Given the description of an element on the screen output the (x, y) to click on. 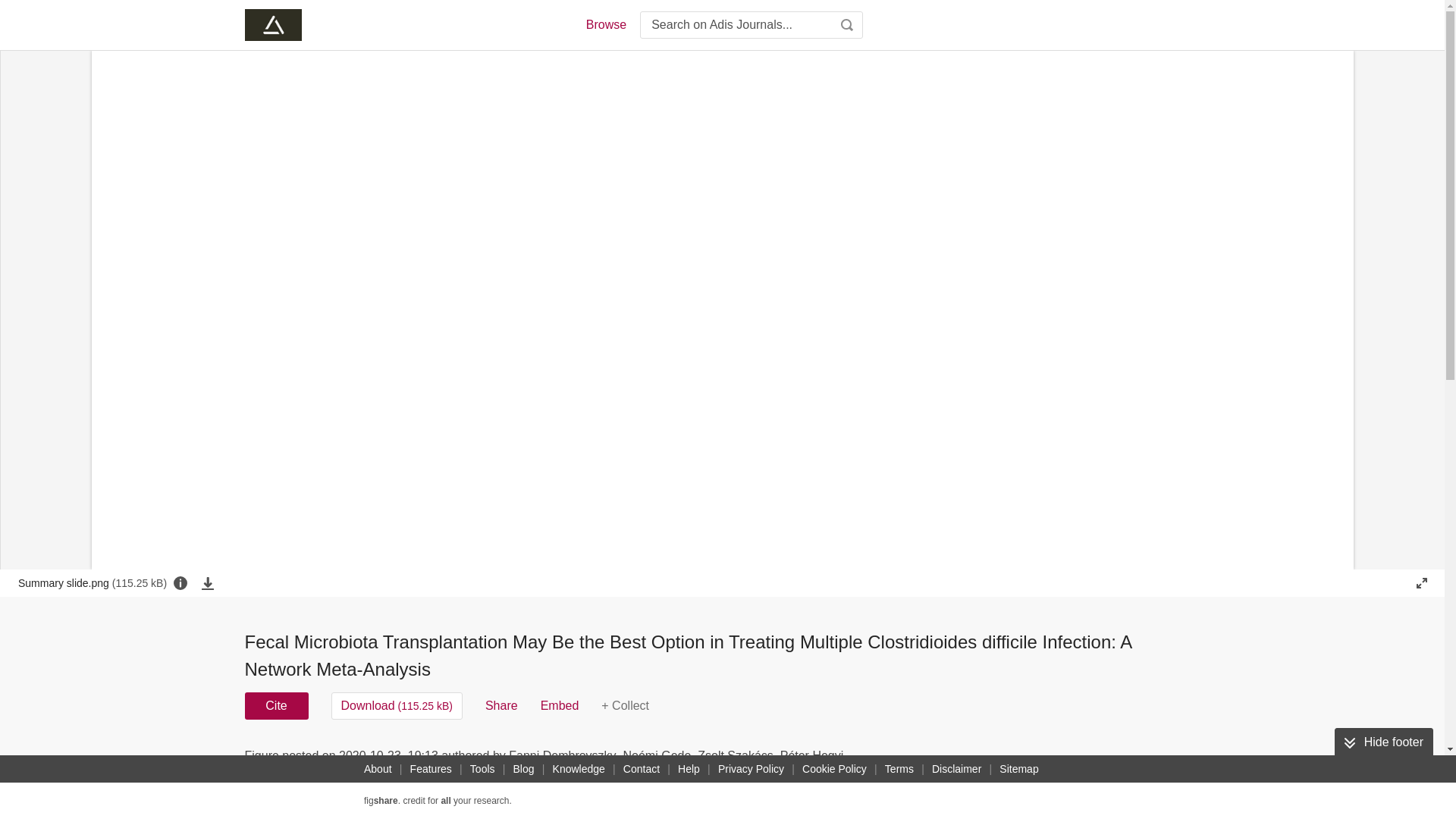
About (377, 769)
Tools (482, 769)
Blog (523, 769)
Share (501, 705)
Hide footer (1383, 742)
Cite (275, 705)
USAGE METRICS (976, 759)
you need to log in first (625, 705)
Summary slide.png (92, 583)
Browse (605, 24)
